Given the description of an element on the screen output the (x, y) to click on. 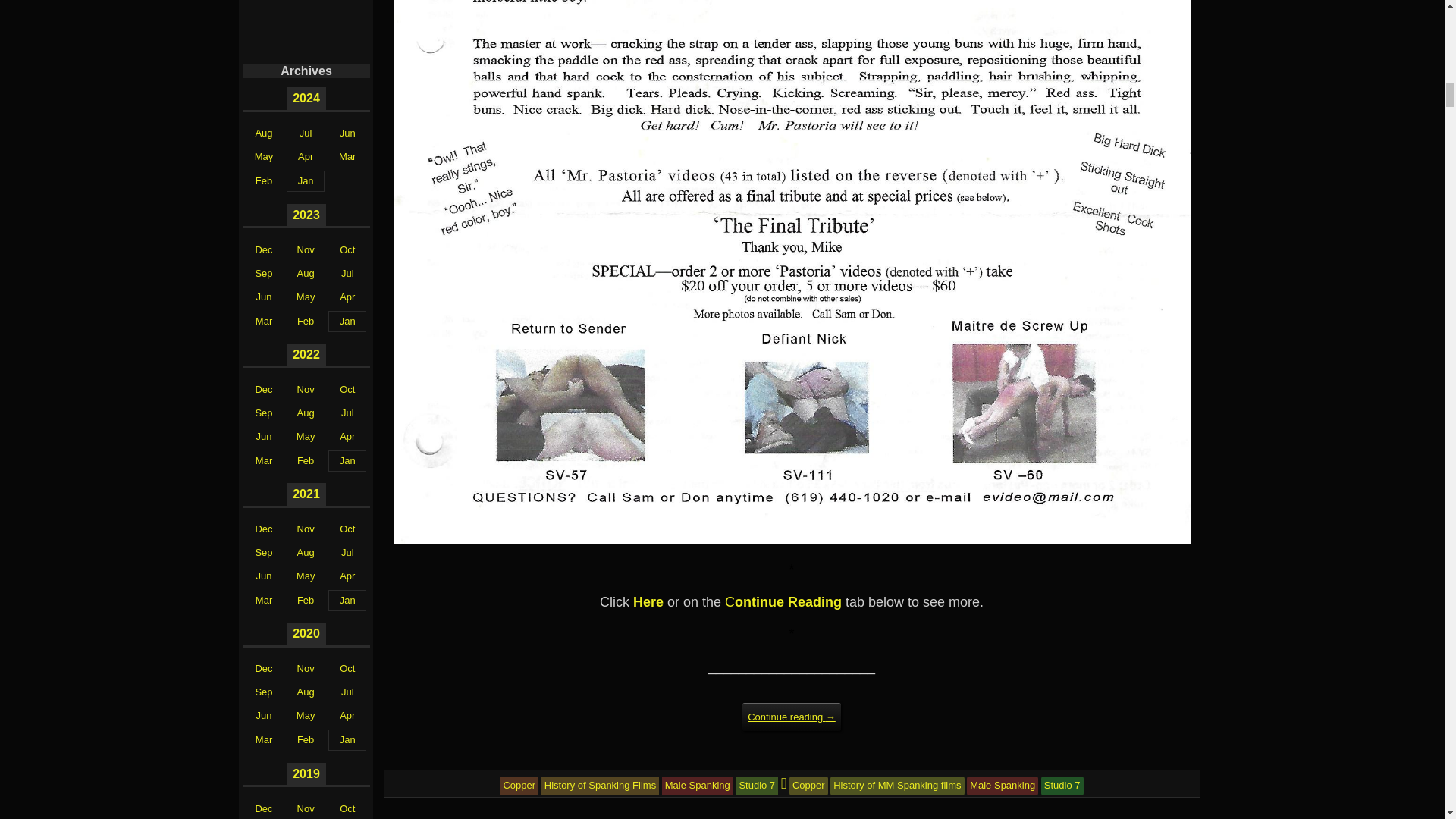
Male Spanking (697, 785)
Here (648, 601)
History of Spanking Films (600, 785)
Studio 7 (756, 785)
Continue Reading (783, 601)
Copper (518, 785)
Copper (808, 785)
